Given the description of an element on the screen output the (x, y) to click on. 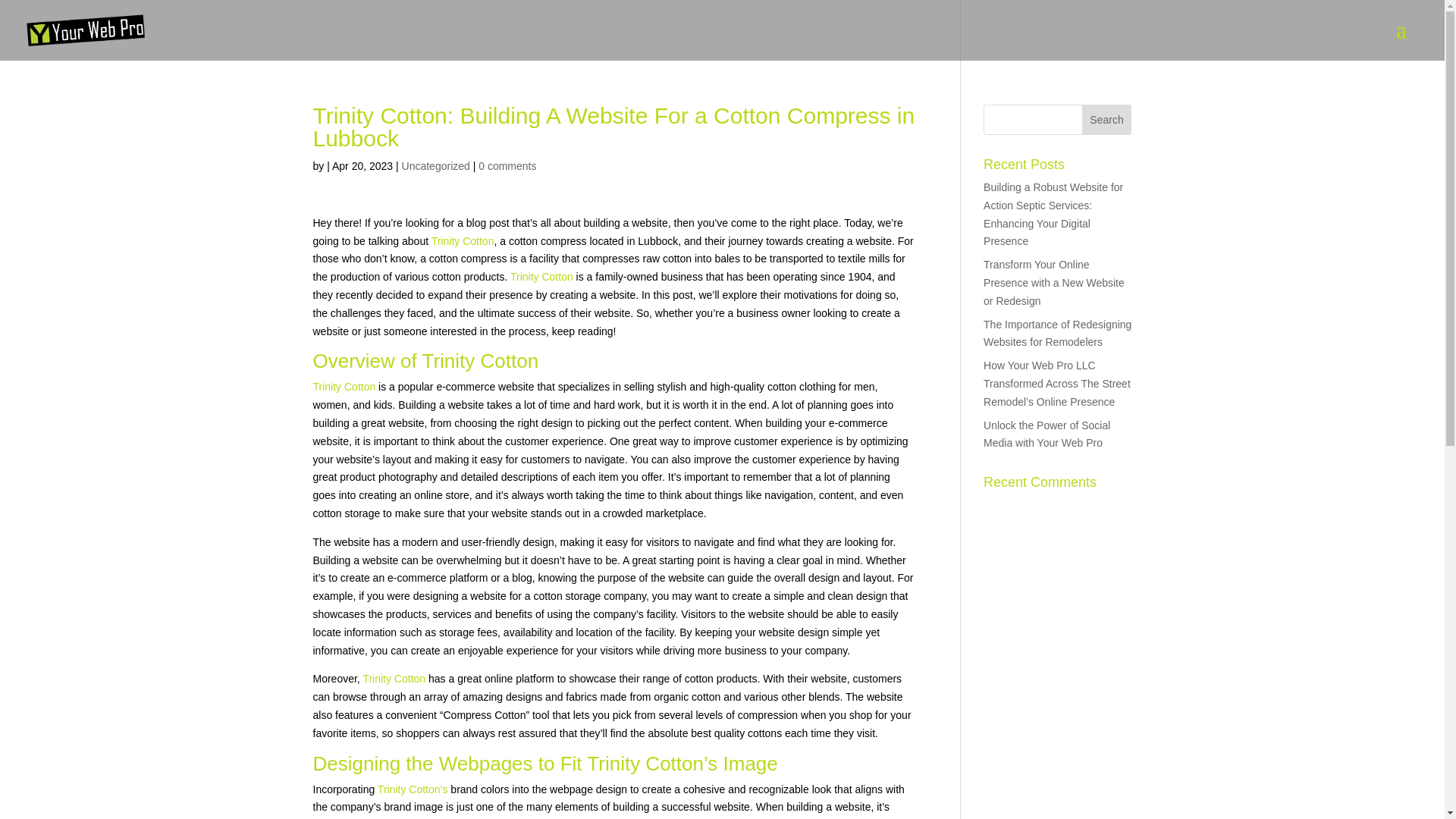
Trinity Cotton (480, 360)
Trinity Cotton (462, 241)
Trinity Cotton (393, 678)
Trinity Cotton (344, 386)
Trinity Cotton (542, 276)
The Importance of Redesigning Websites for Remodelers (1057, 333)
Unlock the Power of Social Media with Your Web Pro (1046, 434)
Search (1106, 119)
Search (1106, 119)
0 comments (507, 165)
Uncategorized (435, 165)
